Given the description of an element on the screen output the (x, y) to click on. 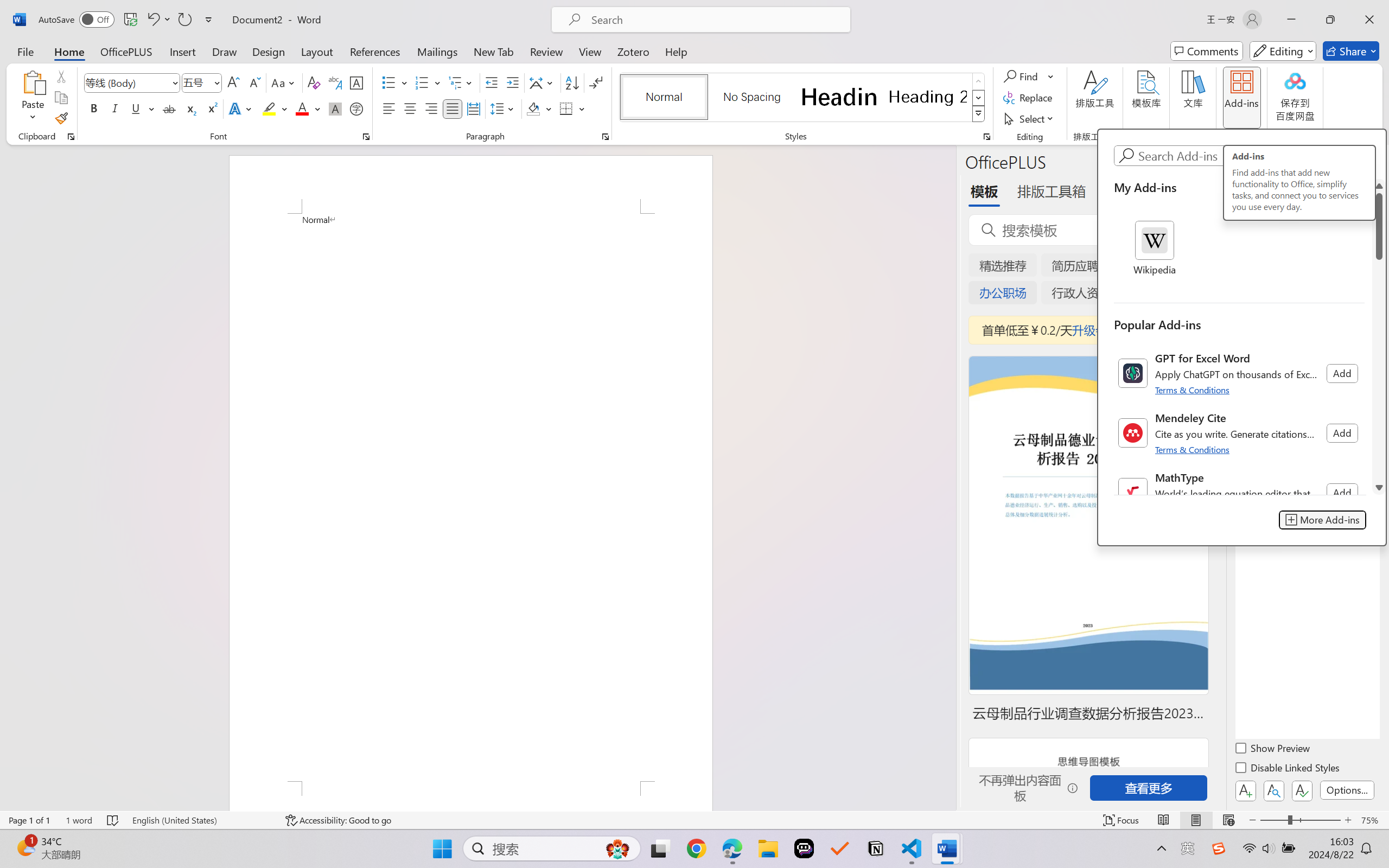
Borders (566, 108)
Strikethrough (169, 108)
Quick Access Toolbar (127, 19)
OfficePLUS (126, 51)
Numbering (428, 82)
Character Shading (334, 108)
Replace... (1029, 97)
Justify (452, 108)
AutomationID: DynamicSearchBoxGleamImage (617, 848)
Superscript (210, 108)
Align Right (431, 108)
